Given the description of an element on the screen output the (x, y) to click on. 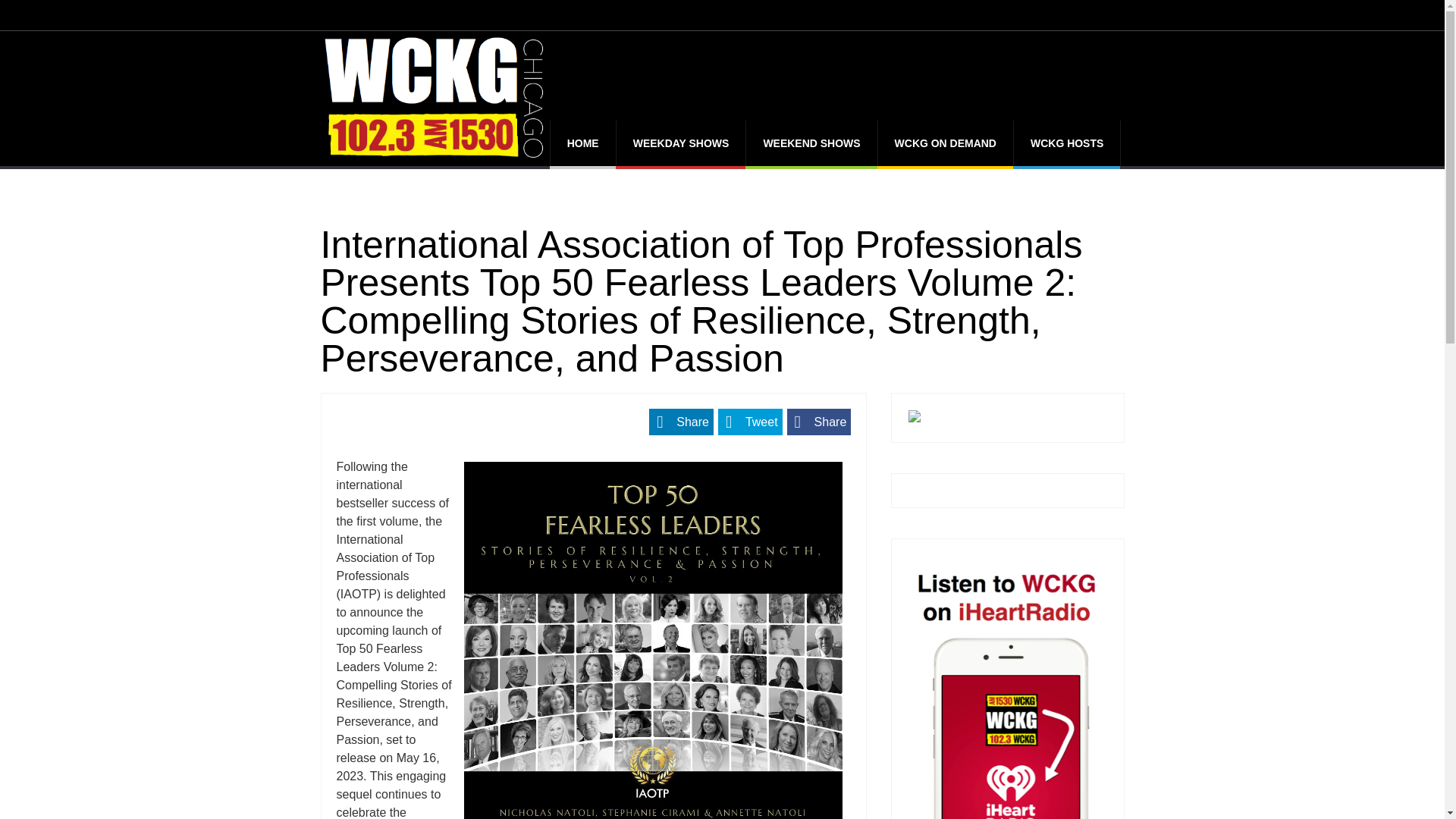
HOME (582, 143)
WCKG HOSTS (1066, 143)
Share (819, 421)
Tweet (750, 421)
WEEKDAY SHOWS (680, 143)
Share (681, 421)
WCKG ON DEMAND (945, 143)
WEEKEND SHOWS (810, 143)
